Given the description of an element on the screen output the (x, y) to click on. 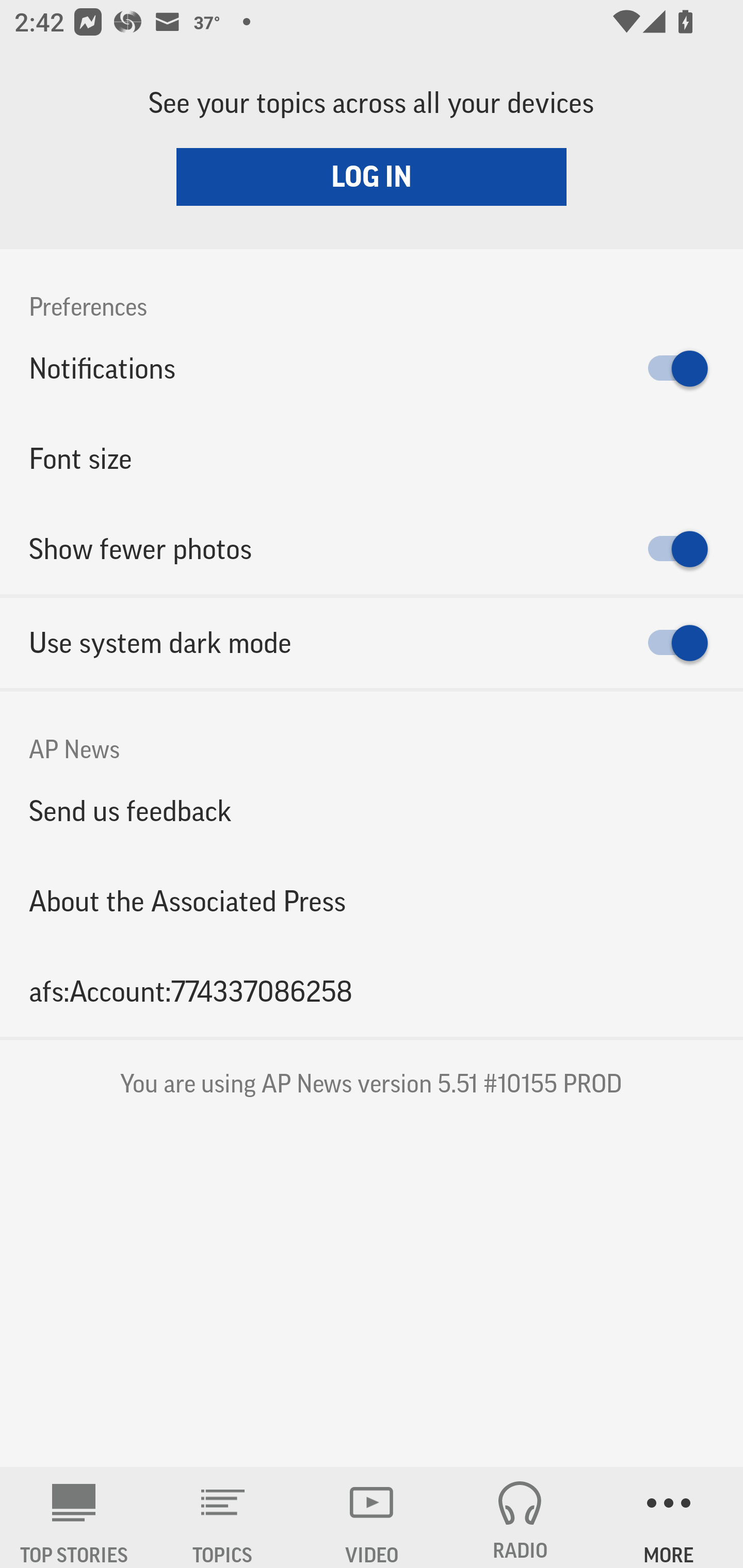
LOG IN (371, 176)
Notifications (371, 368)
Font size (371, 458)
Show fewer photos (371, 548)
Use system dark mode (371, 642)
Send us feedback (371, 810)
About the Associated Press (371, 901)
afs:Account:774337086258 (371, 991)
AP News TOP STORIES (74, 1517)
TOPICS (222, 1517)
VIDEO (371, 1517)
RADIO (519, 1517)
MORE (668, 1517)
